Given the description of an element on the screen output the (x, y) to click on. 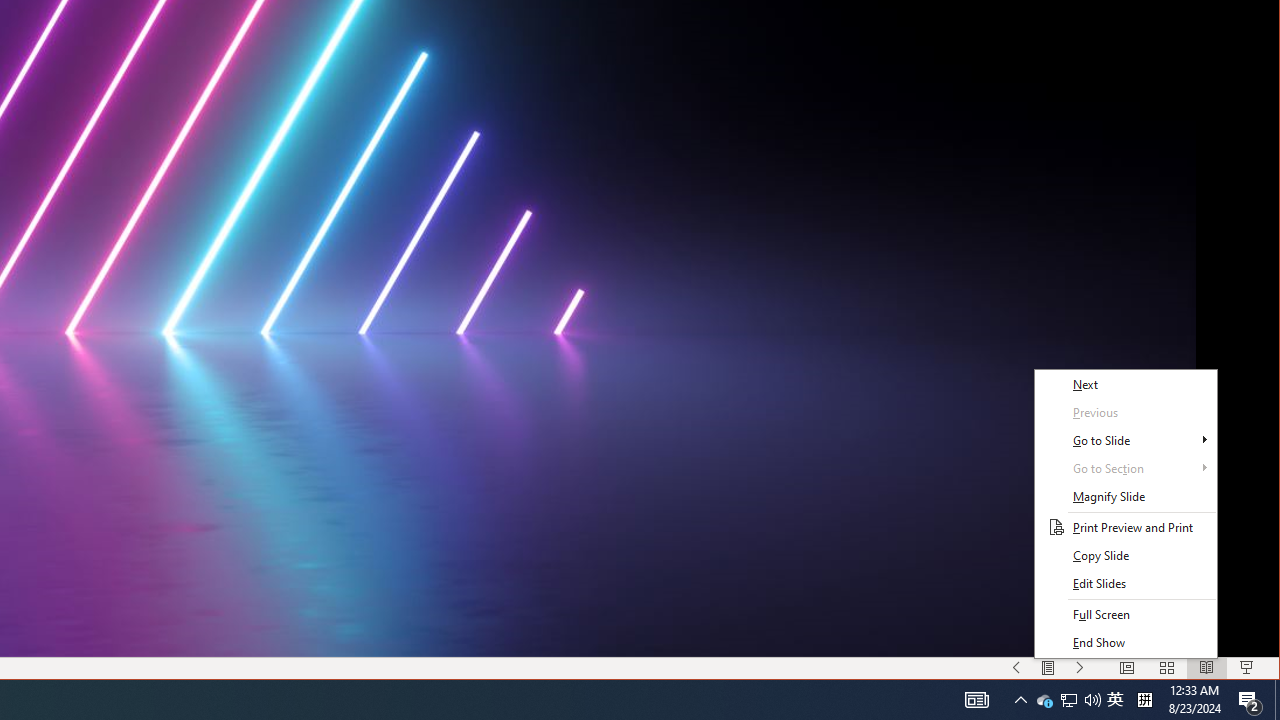
Go to Slide (1125, 440)
Class: NetUITWMenuContainer (1125, 513)
Magnify Slide (1125, 497)
Slide Show Previous On (1016, 668)
Print Preview and Print (1125, 528)
Full Screen (1125, 615)
Go to Section (1125, 469)
